Given the description of an element on the screen output the (x, y) to click on. 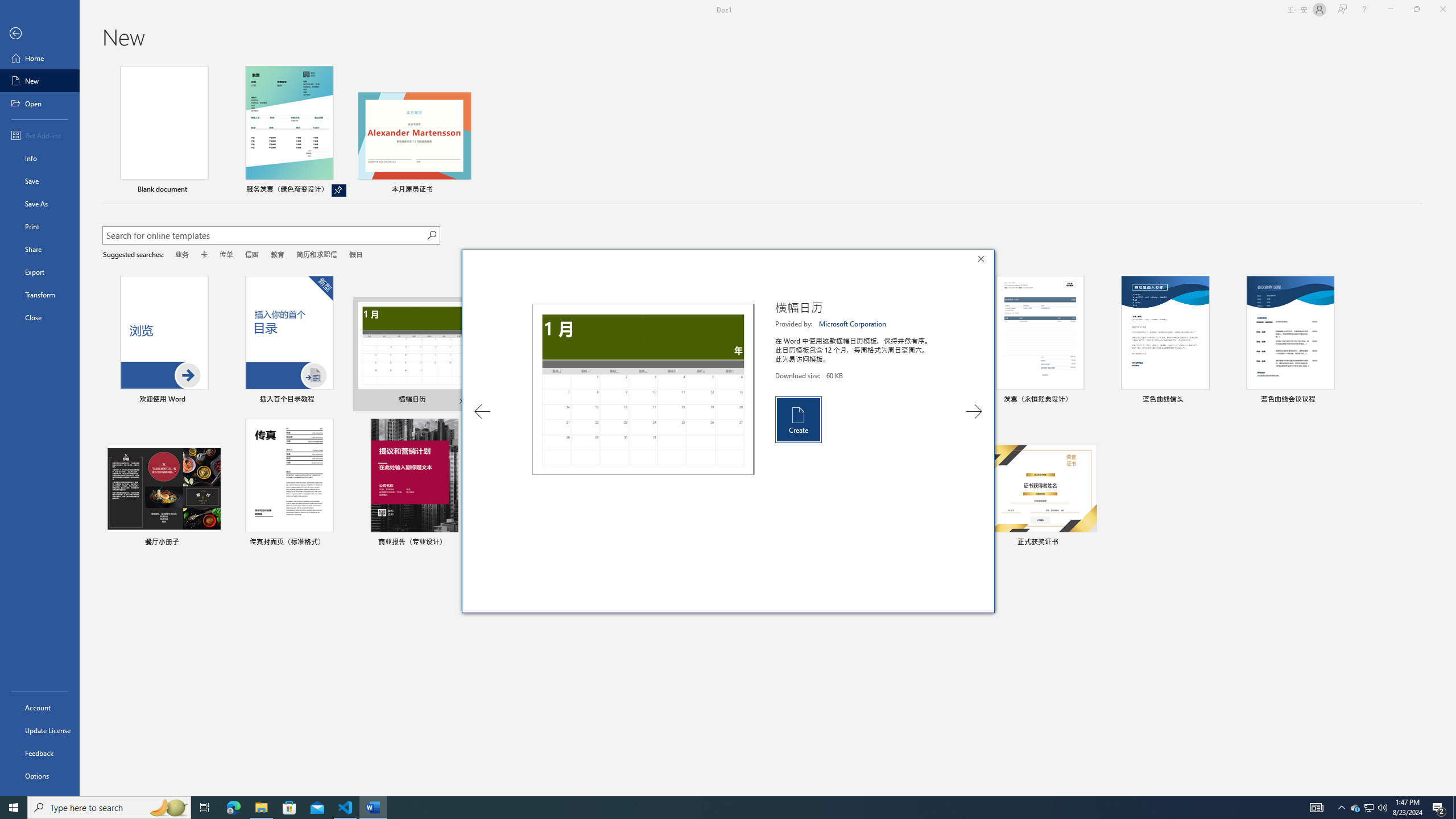
Action Center, 2 new notifications (1439, 807)
New (40, 80)
Task View (204, 807)
Account (40, 707)
Preview (643, 389)
Q2790: 100% (1368, 807)
